Given the description of an element on the screen output the (x, y) to click on. 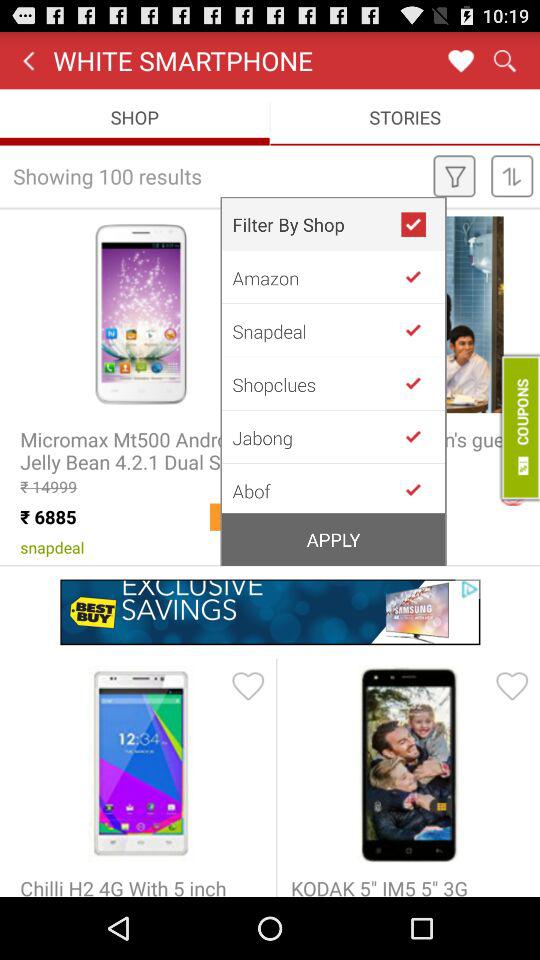
turn on filter by shop (422, 224)
